Given the description of an element on the screen output the (x, y) to click on. 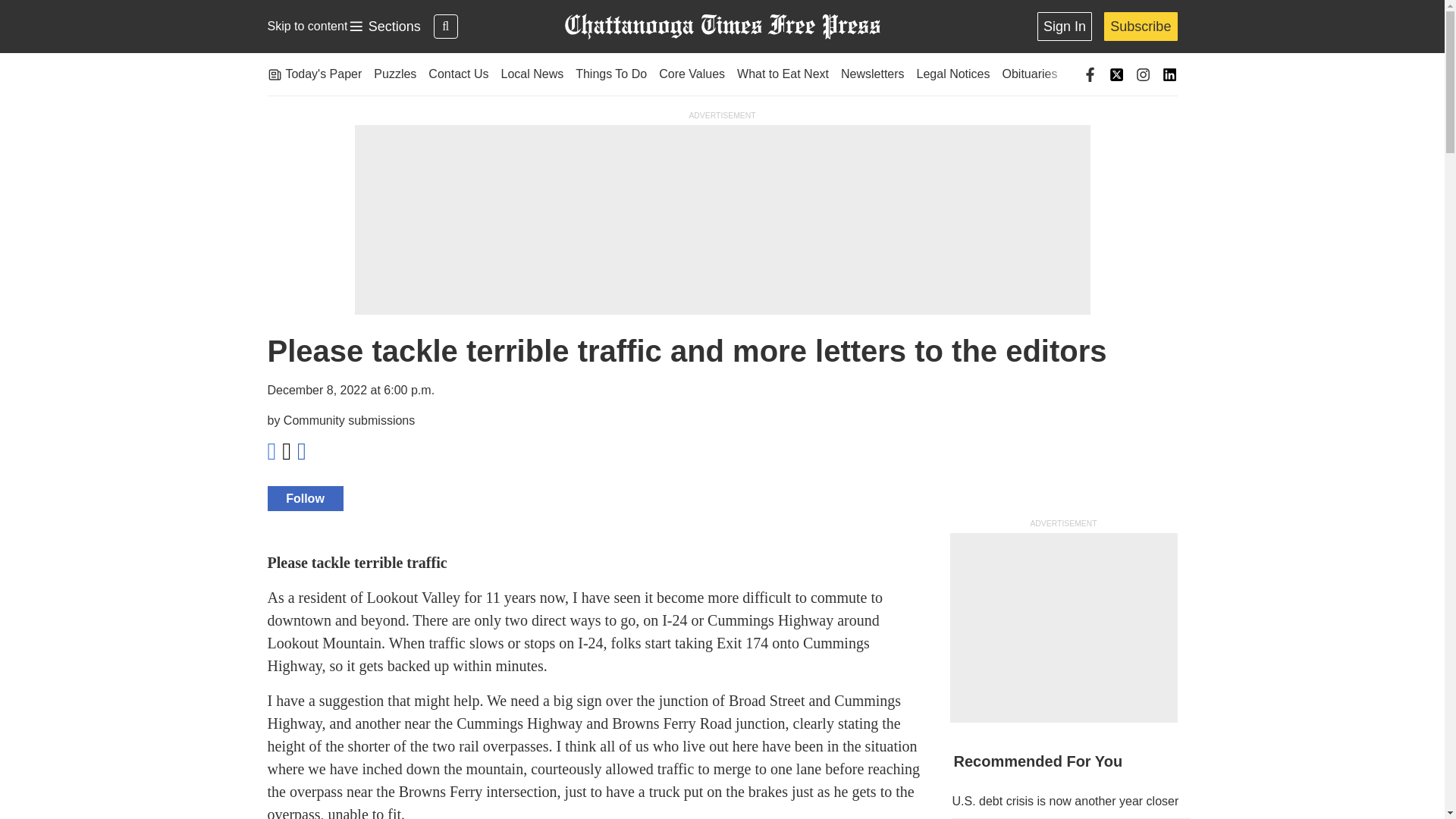
Skip to content (383, 26)
U.S. debt crisis is now another year closer (306, 26)
3rd party ad content (1065, 800)
3rd party ad content (721, 26)
